Given the description of an element on the screen output the (x, y) to click on. 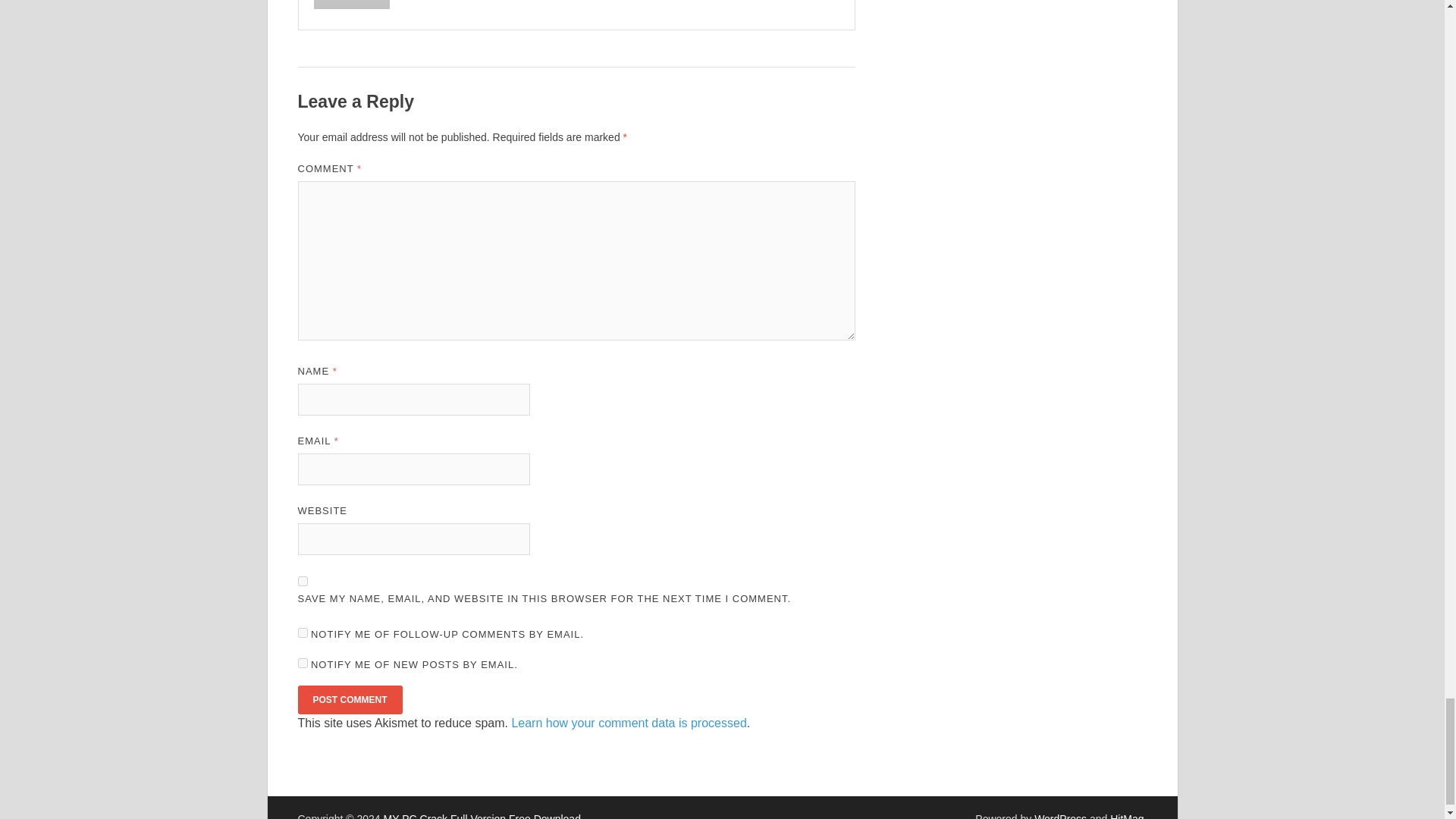
yes (302, 581)
subscribe (302, 633)
Post Comment (349, 699)
subscribe (302, 663)
